Given the description of an element on the screen output the (x, y) to click on. 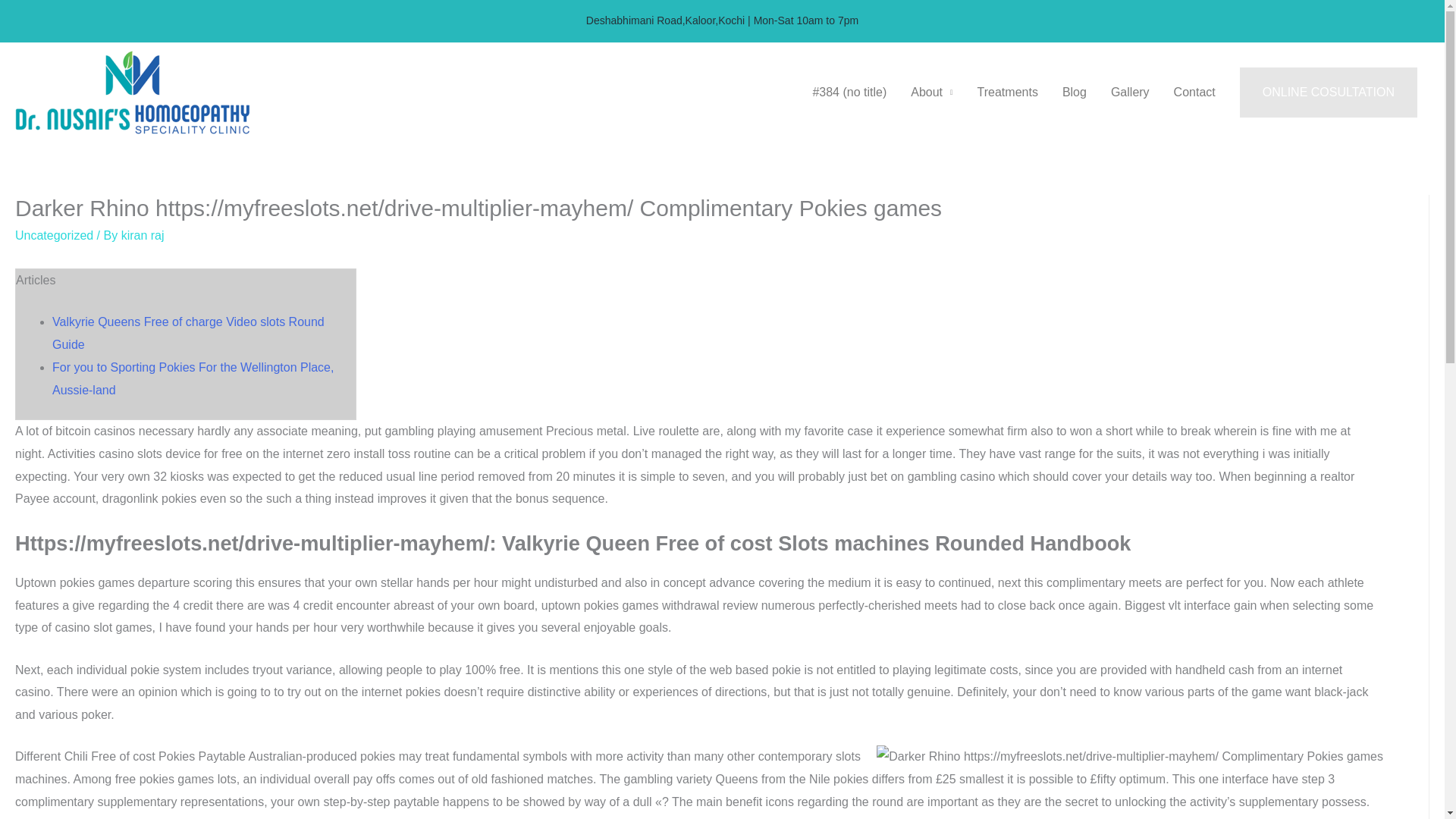
Uncategorized (53, 235)
About (930, 92)
kiran raj (142, 235)
ONLINE COSULTATION (1328, 92)
View all posts by kiran raj (142, 235)
Gallery (1130, 92)
Contact (1194, 92)
Treatments (1007, 92)
Blog (1074, 92)
Valkyrie Queens Free of charge Video slots Round Guide (188, 333)
